Given the description of an element on the screen output the (x, y) to click on. 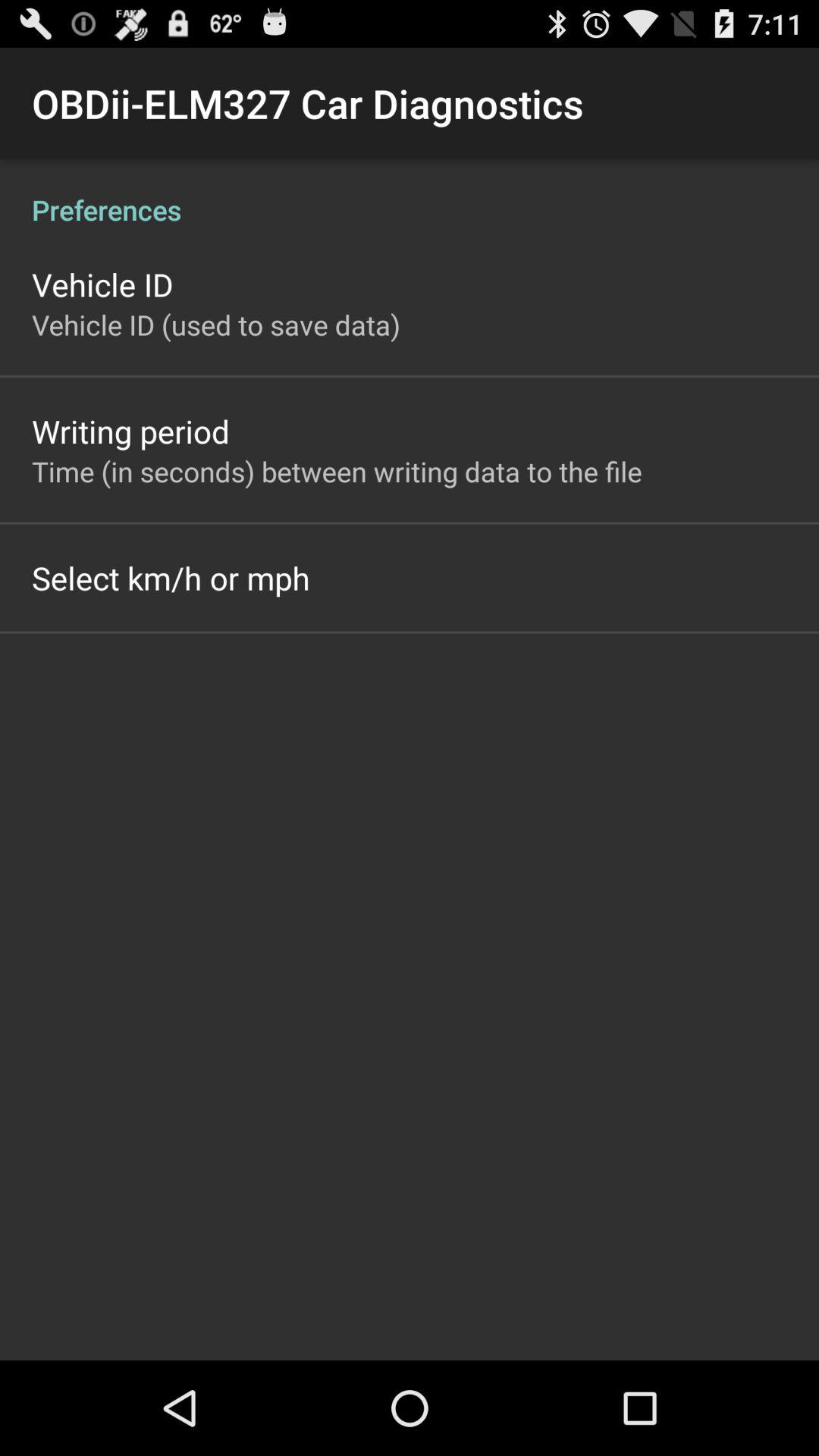
jump until the preferences icon (409, 193)
